Given the description of an element on the screen output the (x, y) to click on. 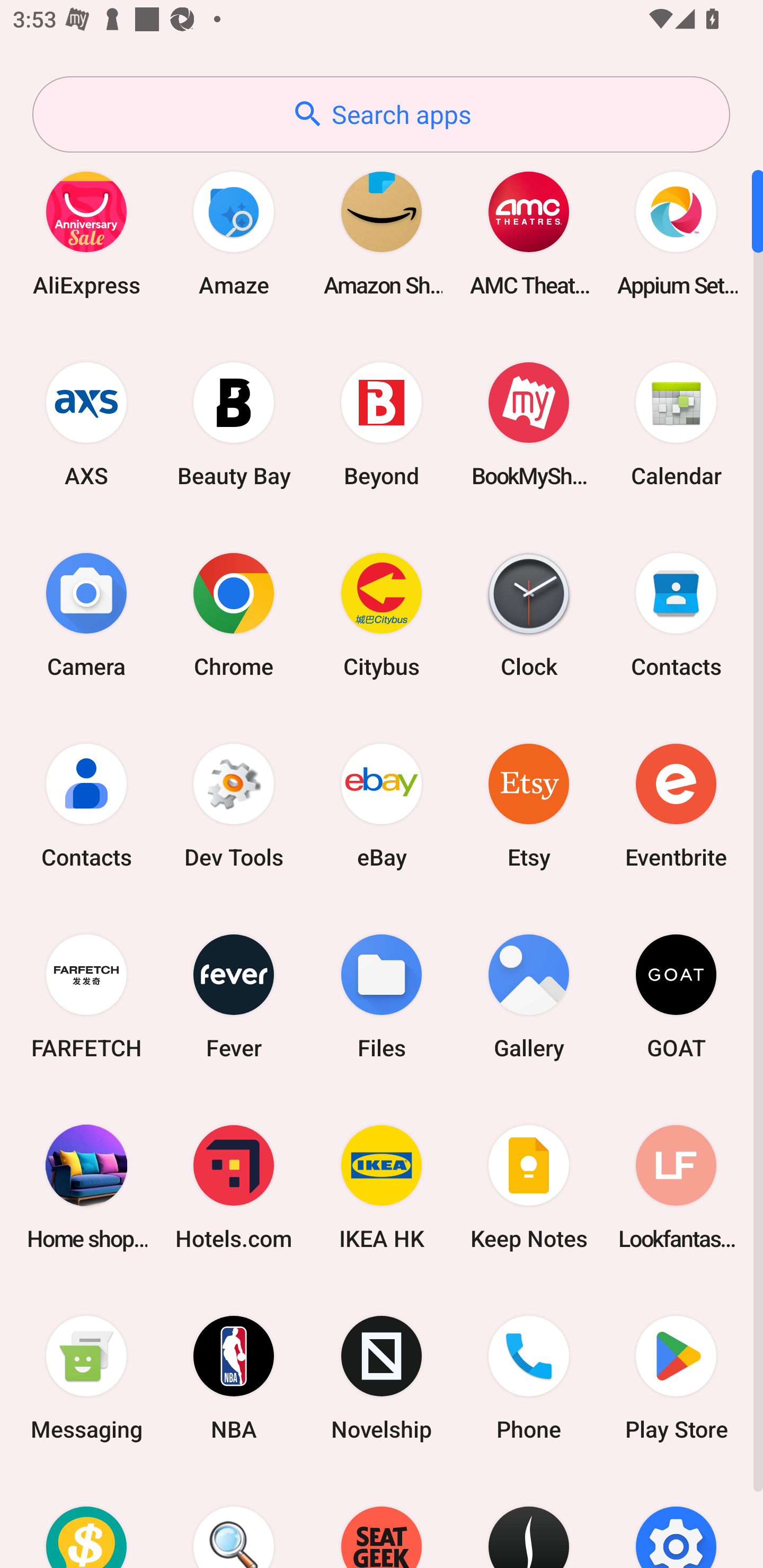
  Search apps (381, 114)
AliExpress (86, 233)
Amaze (233, 233)
Amazon Shopping (381, 233)
AMC Theatres (528, 233)
Appium Settings (676, 233)
AXS (86, 424)
Beauty Bay (233, 424)
Beyond (381, 424)
BookMyShow (528, 424)
Calendar (676, 424)
Camera (86, 614)
Chrome (233, 614)
Citybus (381, 614)
Clock (528, 614)
Contacts (676, 614)
Contacts (86, 805)
Dev Tools (233, 805)
eBay (381, 805)
Etsy (528, 805)
Eventbrite (676, 805)
FARFETCH (86, 996)
Fever (233, 996)
Files (381, 996)
Gallery (528, 996)
GOAT (676, 996)
Home shopping (86, 1186)
Hotels.com (233, 1186)
IKEA HK (381, 1186)
Keep Notes (528, 1186)
Lookfantastic (676, 1186)
Messaging (86, 1377)
NBA (233, 1377)
Novelship (381, 1377)
Phone (528, 1377)
Play Store (676, 1377)
